Given the description of an element on the screen output the (x, y) to click on. 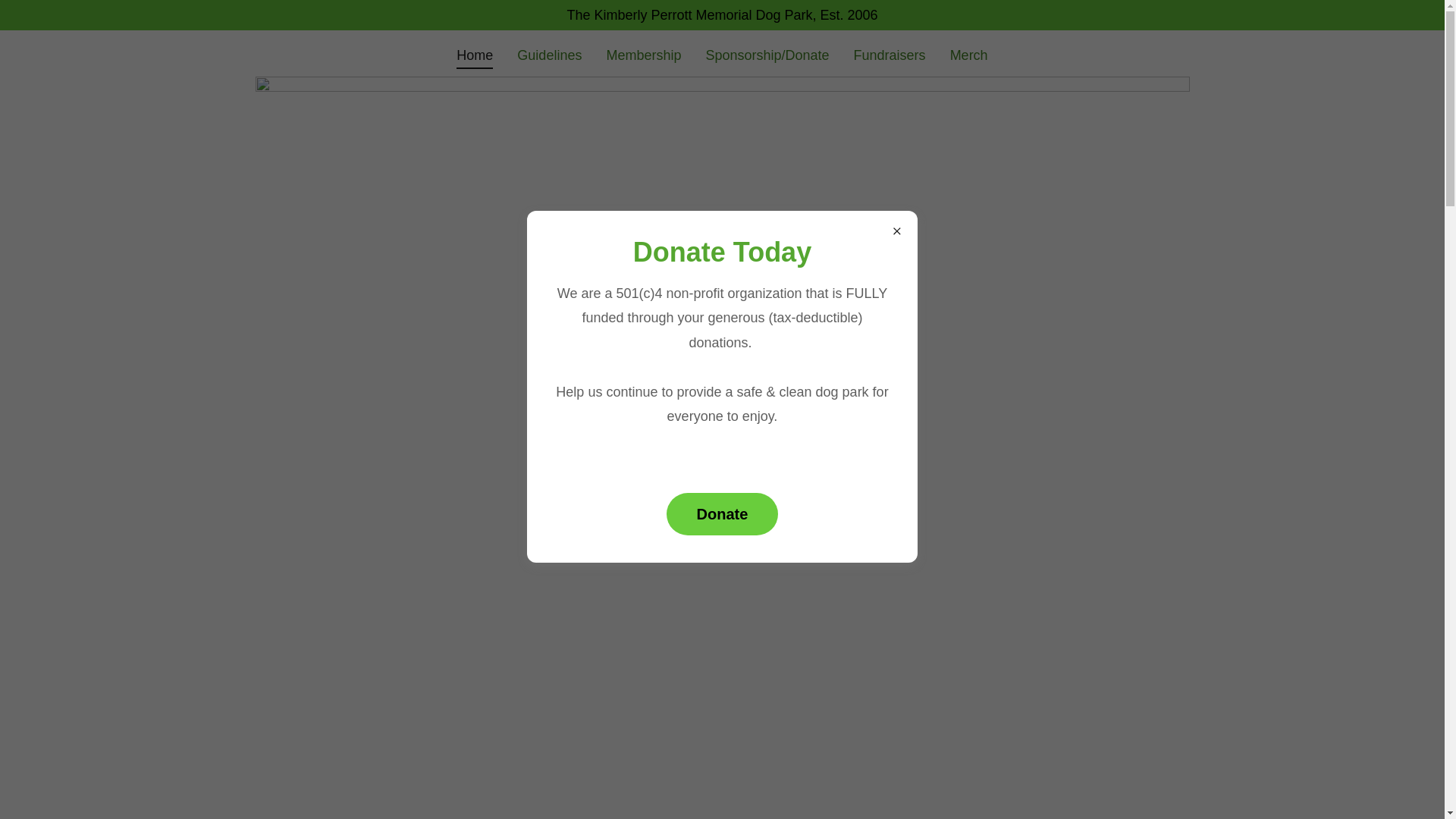
Home (475, 56)
Merch (968, 54)
Guidelines (549, 54)
Fundraisers (889, 54)
2006 (862, 14)
Membership (643, 54)
Donate (722, 514)
